Given the description of an element on the screen output the (x, y) to click on. 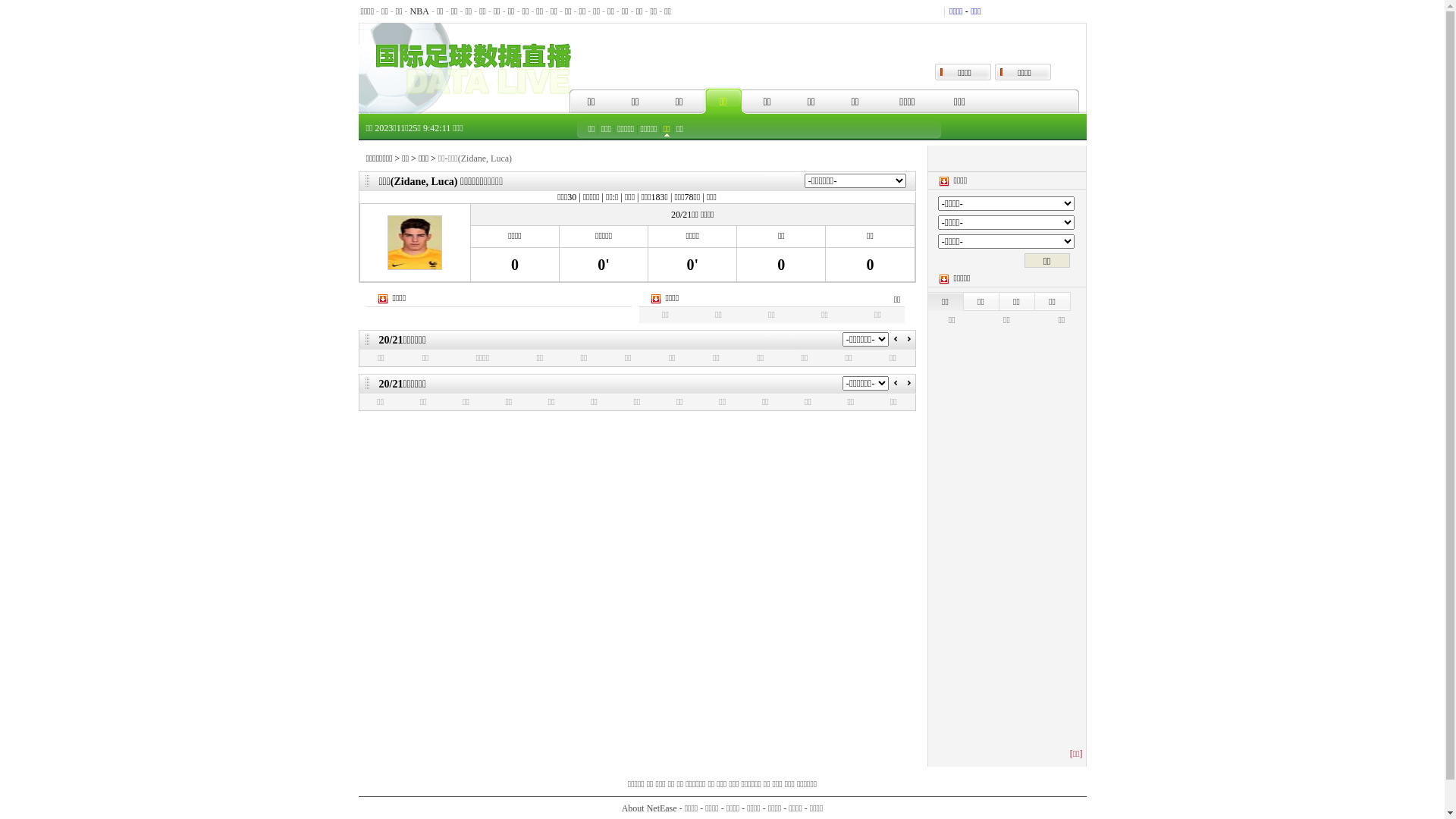
NBA Element type: text (419, 11)
About NetEase Element type: text (649, 808)
